Given the description of an element on the screen output the (x, y) to click on. 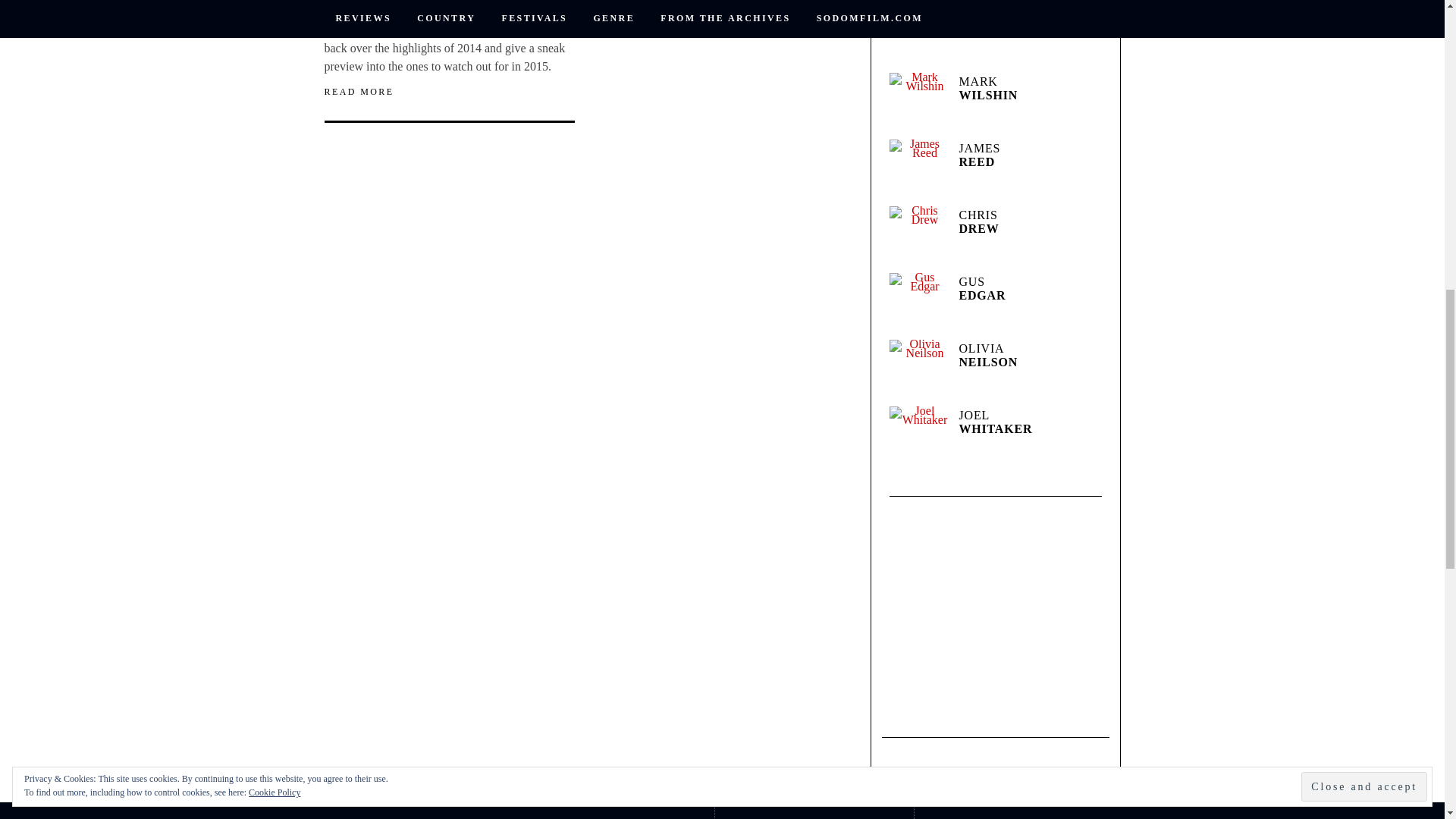
Alexa Dalby (917, 35)
James Reed (917, 169)
Joel Whitaker (917, 436)
Chris Drew (917, 235)
Gus Edgar (917, 302)
Olivia Neilson (917, 368)
Mark Wilshin (917, 101)
